Given the description of an element on the screen output the (x, y) to click on. 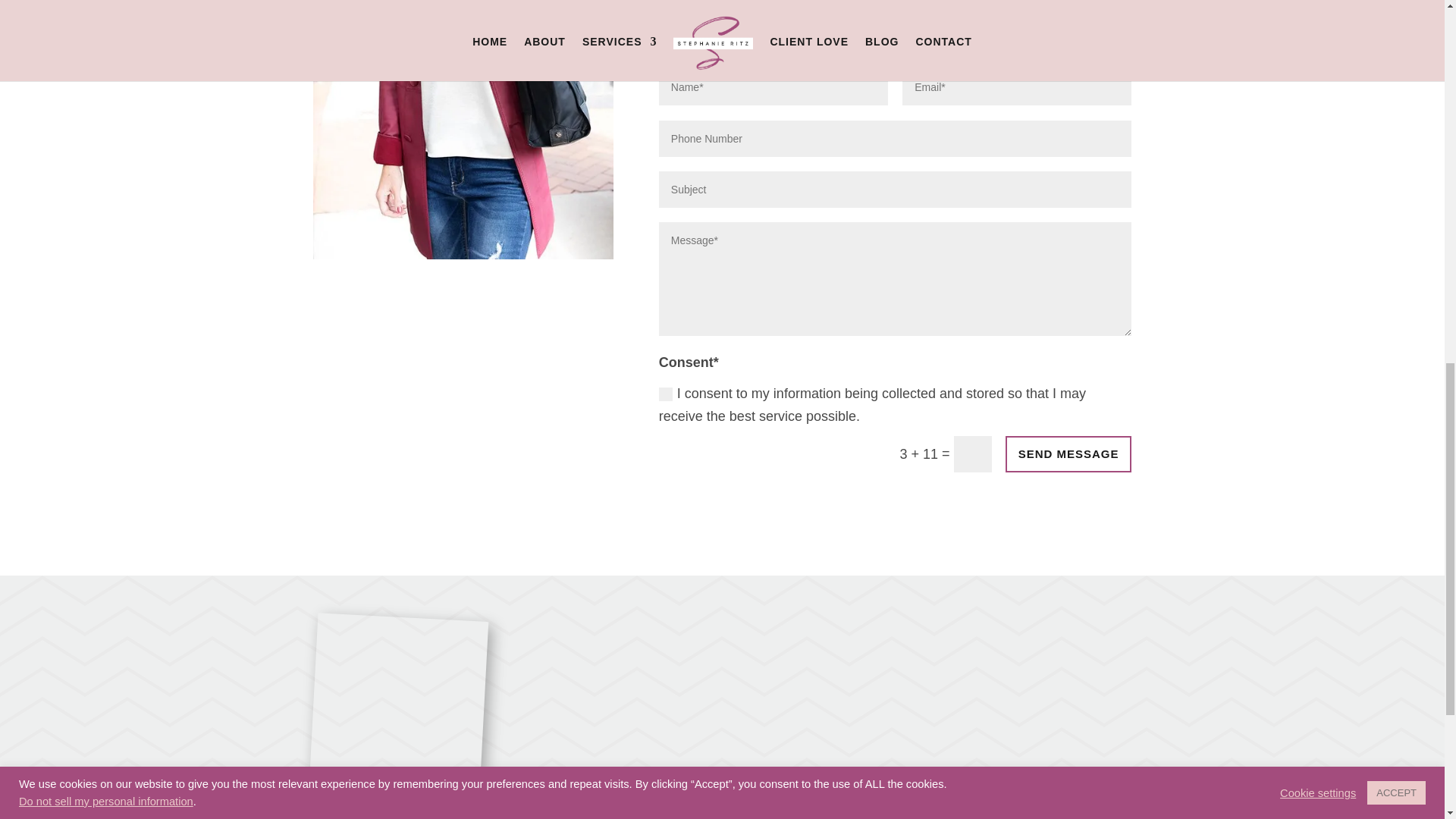
CLICK TO LEARN MORE! (647, 794)
SEND MESSAGE (1069, 453)
claim-your-career-contact-headshot (462, 130)
